Given the description of an element on the screen output the (x, y) to click on. 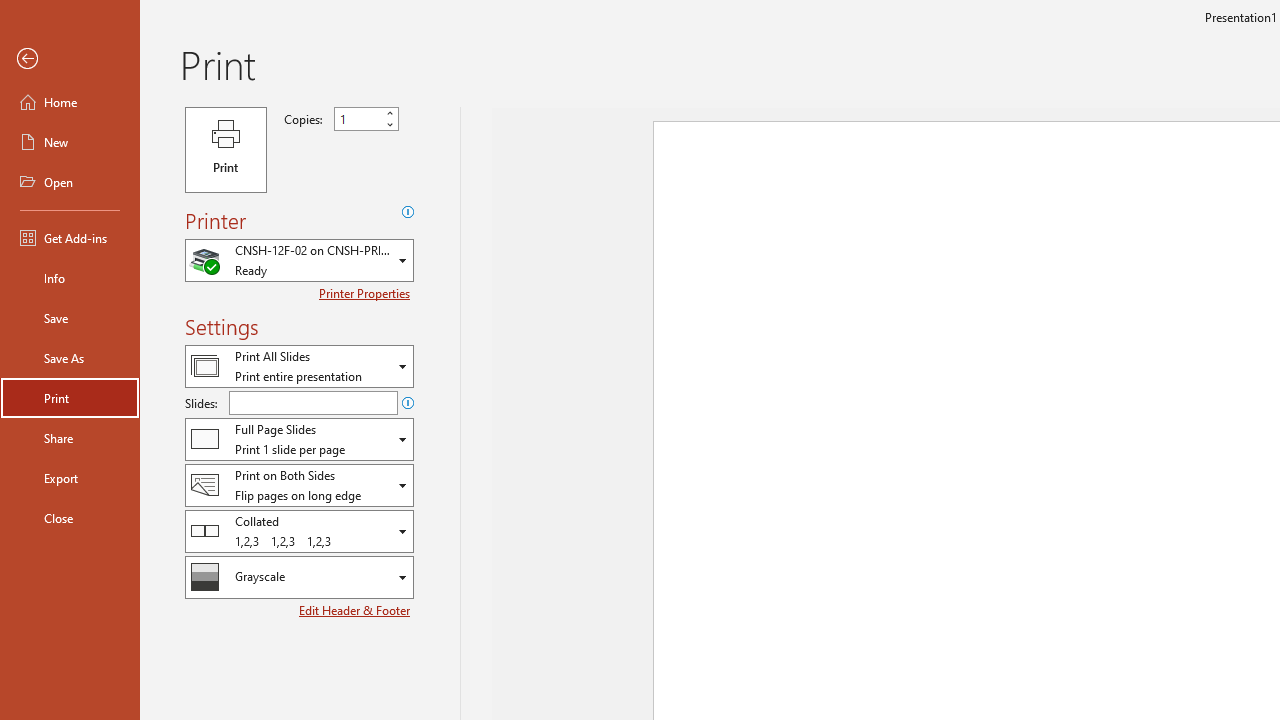
Edit Header & Footer (356, 610)
Color/Grayscale (299, 577)
Open (69, 182)
Which Printer (299, 260)
Copies (366, 119)
Back (69, 59)
New (69, 141)
Print (226, 149)
Copies (358, 119)
Print (69, 398)
Collation (299, 530)
